Given the description of an element on the screen output the (x, y) to click on. 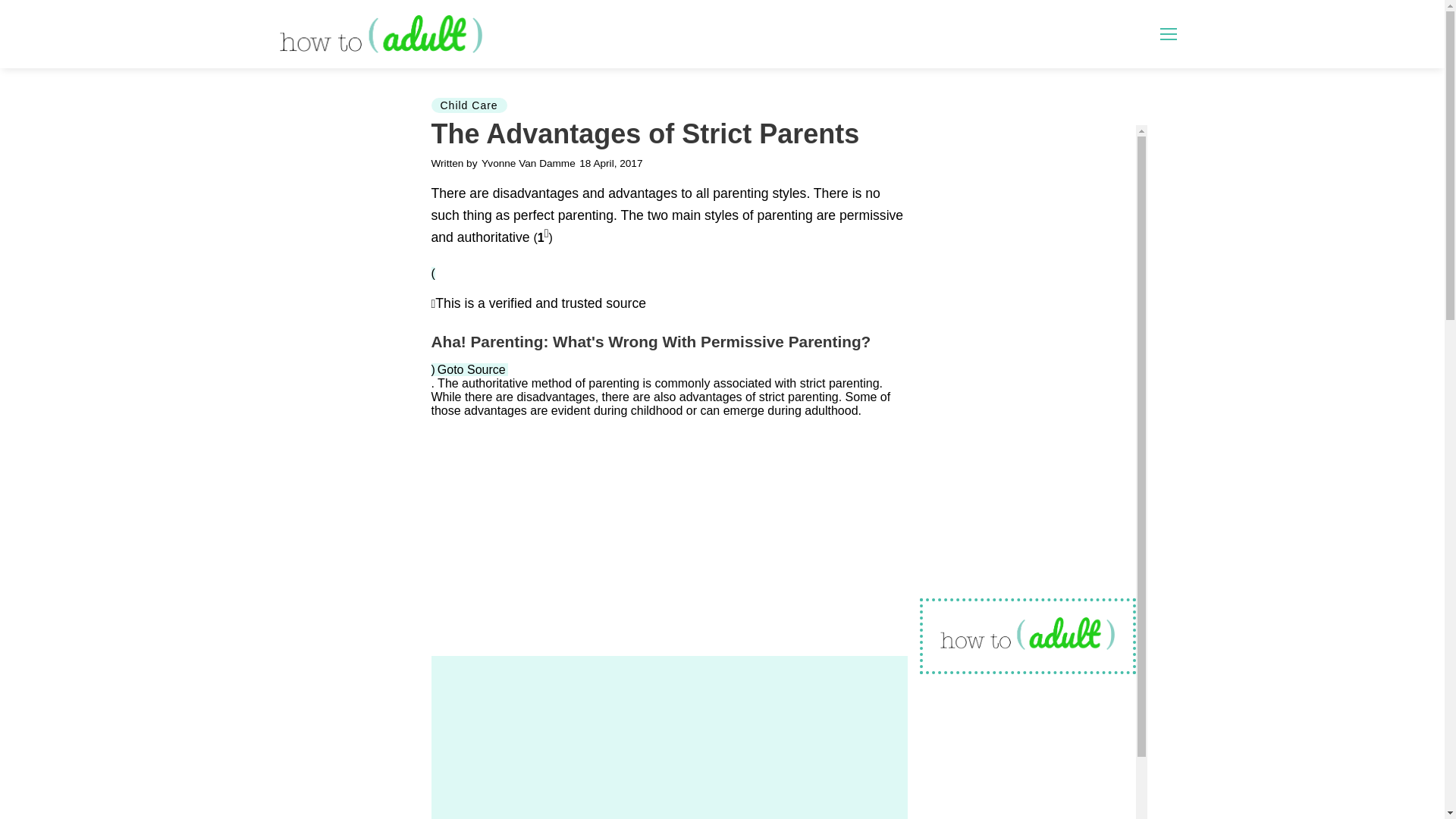
Child Care (468, 104)
3rd party ad content (816, 33)
3rd party ad content (668, 536)
3rd party ad content (1032, 219)
3rd party ad content (1032, 755)
Goto Source (471, 369)
Advertisement (668, 737)
